Given the description of an element on the screen output the (x, y) to click on. 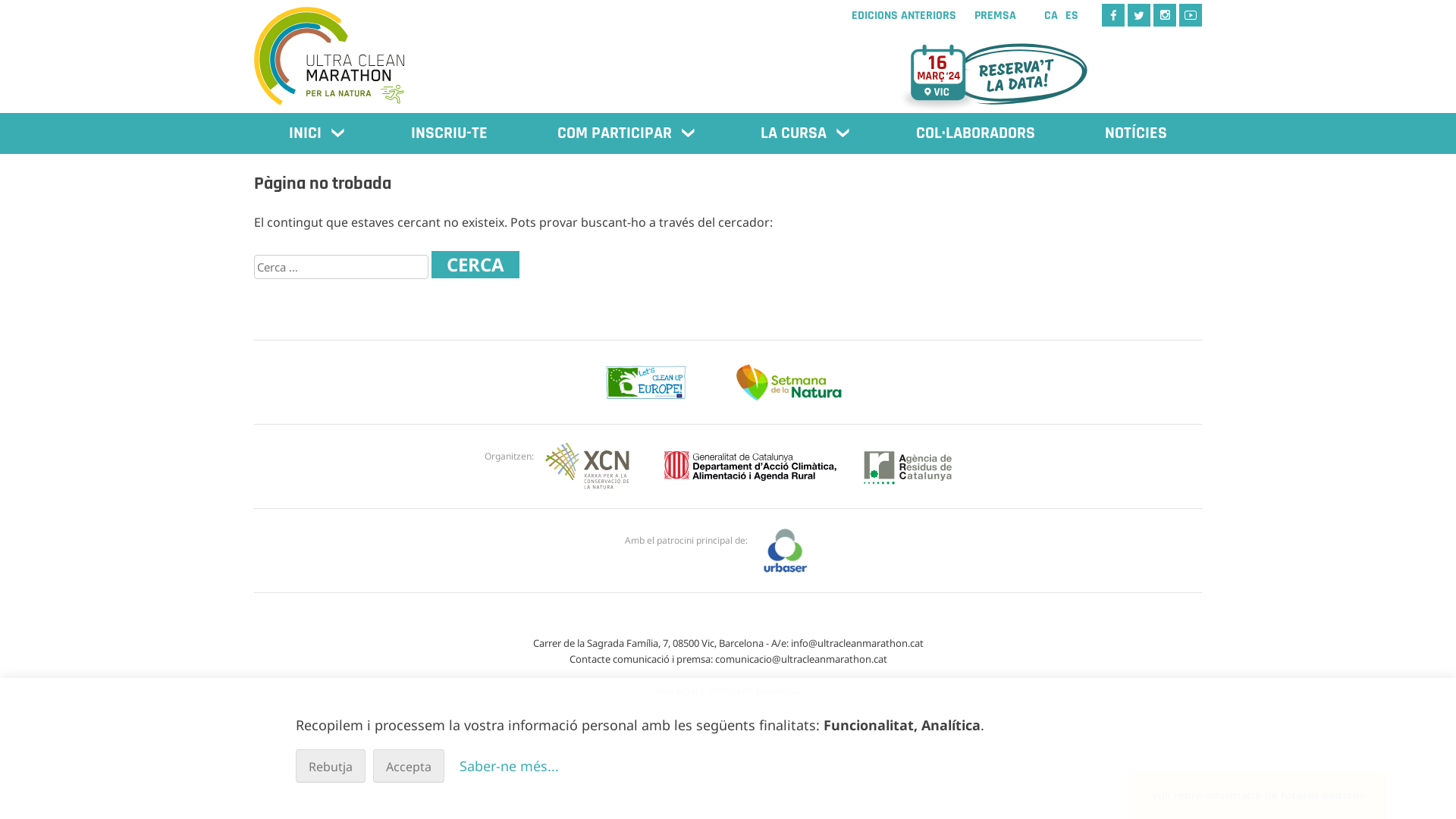
info@ultracleanmarathon.cat Element type: text (856, 642)
Ultra Clean Marathon Element type: text (329, 48)
ES Element type: text (1071, 15)
EDICIONS ANTERIORS Element type: text (903, 15)
Accepta Element type: text (408, 765)
Rebutja Element type: text (330, 765)
Twitter Element type: text (1138, 14)
Cerca Element type: text (475, 264)
INSCRIU-TE Element type: text (449, 132)
CA Element type: text (1050, 15)
Instagram Element type: text (1164, 14)
Facebook Element type: text (1112, 14)
INICI Element type: text (314, 132)
Youtube Element type: text (1190, 14)
PREMSA Element type: text (994, 15)
LA CURSA Element type: text (803, 132)
COM PARTICIPAR Element type: text (624, 132)
comunicacio@ultracleanmarathon.cat Element type: text (800, 658)
